Given the description of an element on the screen output the (x, y) to click on. 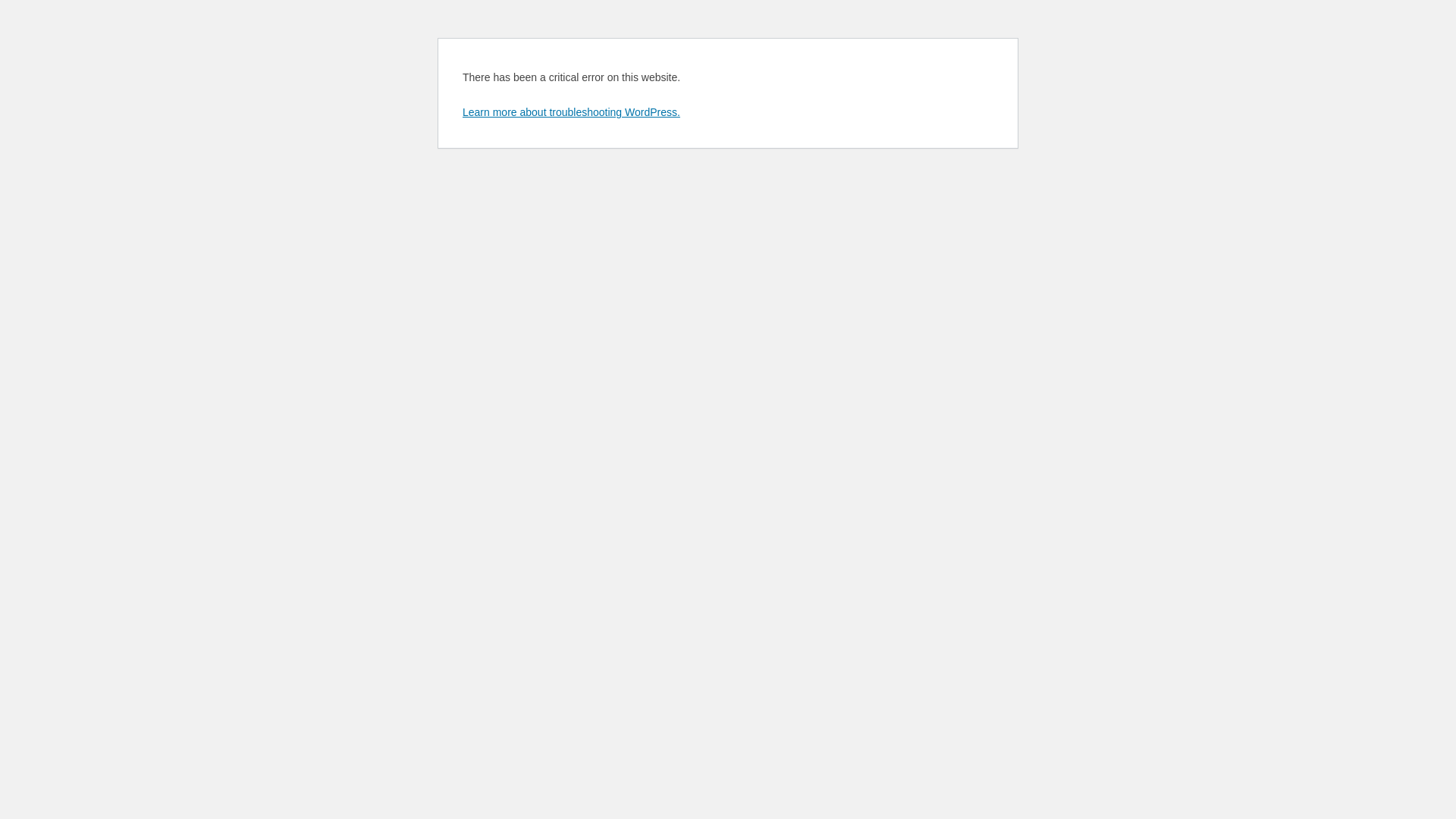
Learn more about troubleshooting WordPress. Element type: text (571, 112)
